Given the description of an element on the screen output the (x, y) to click on. 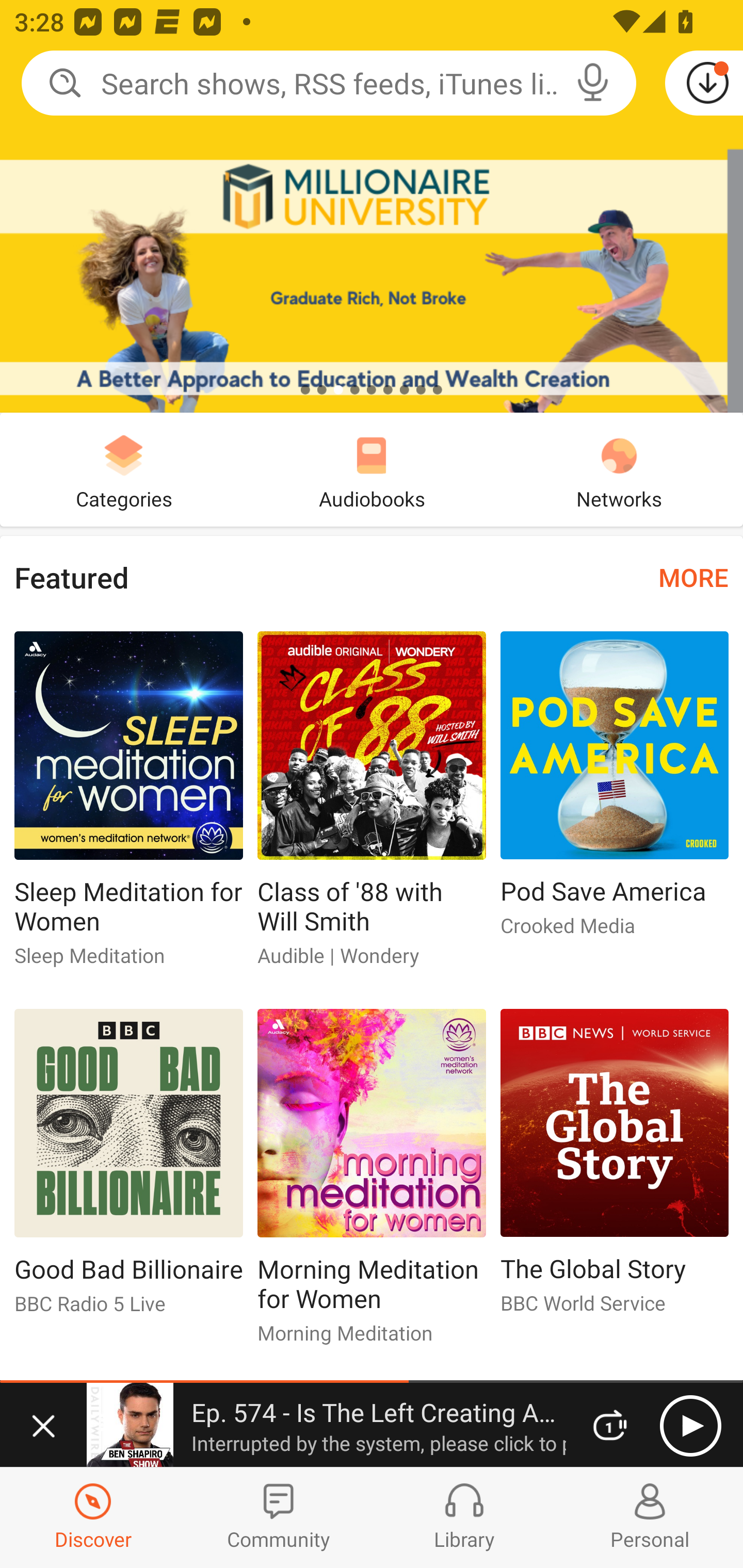
Millionaire University (371, 206)
Categories (123, 469)
Audiobooks (371, 469)
Networks (619, 469)
MORE (693, 576)
Pod Save America Pod Save America Crooked Media (614, 792)
Play (690, 1425)
Discover (92, 1517)
Community (278, 1517)
Library (464, 1517)
Profiles and Settings Personal (650, 1517)
